Given the description of an element on the screen output the (x, y) to click on. 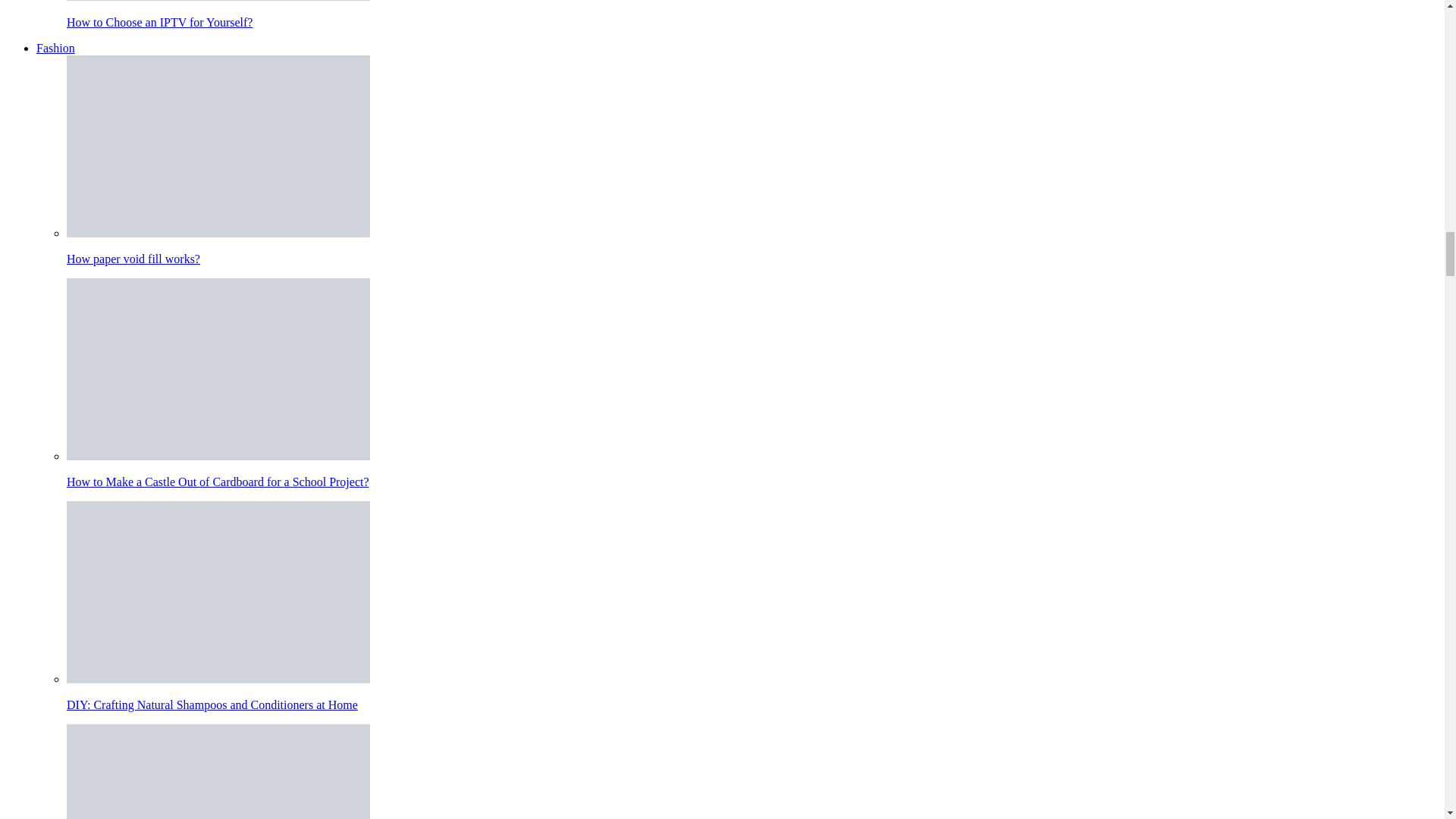
Fashion (55, 47)
